Given the description of an element on the screen output the (x, y) to click on. 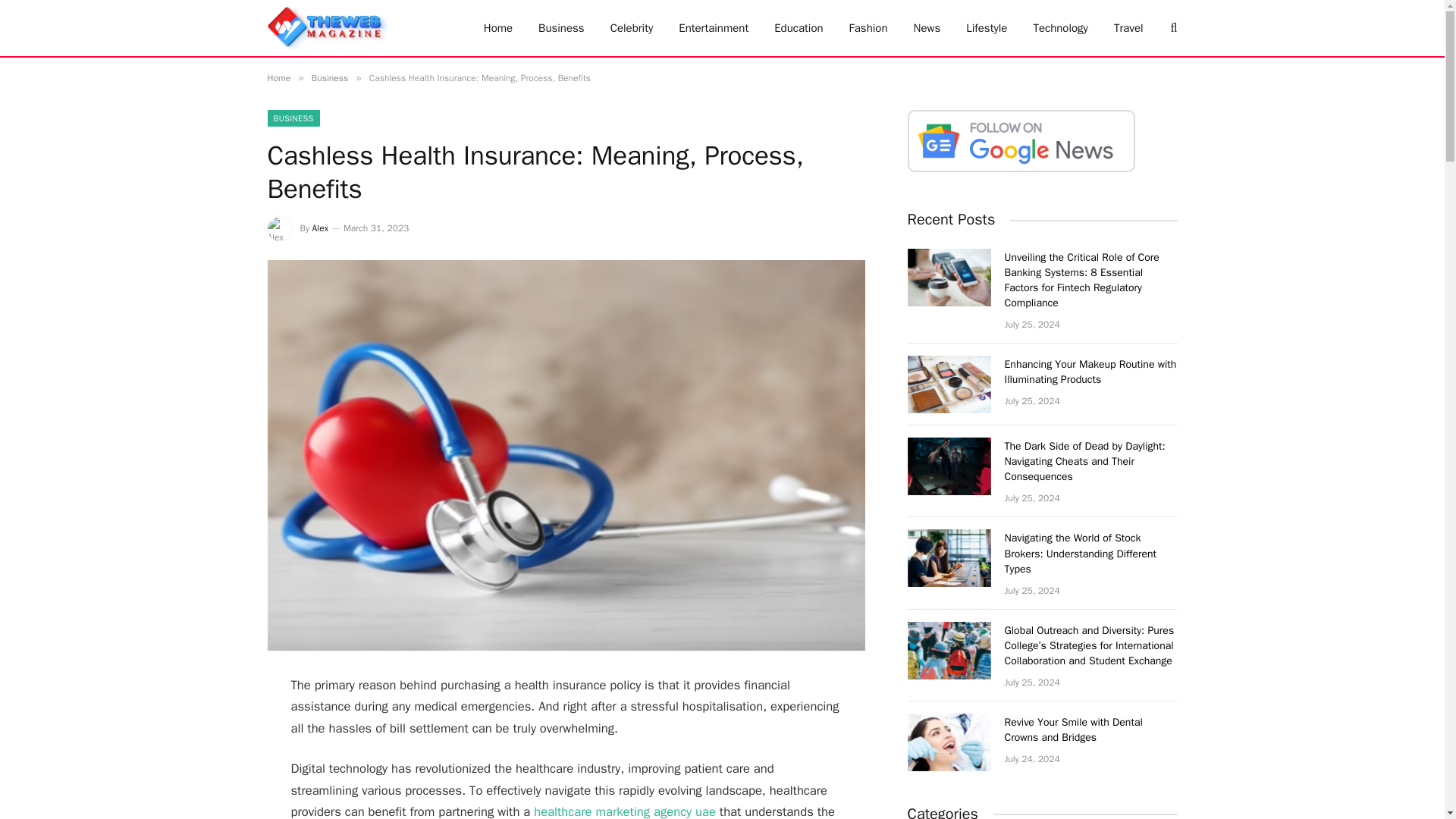
Travel (1128, 28)
Alex (321, 227)
Home (497, 28)
Lifestyle (986, 28)
Education (798, 28)
Search (1172, 27)
Posts by Alex (321, 227)
News (927, 28)
The Web Magazine (325, 28)
healthcare marketing agency uae (625, 811)
Celebrity (631, 28)
Fashion (868, 28)
Entertainment (713, 28)
BUSINESS (292, 117)
Business (560, 28)
